Given the description of an element on the screen output the (x, y) to click on. 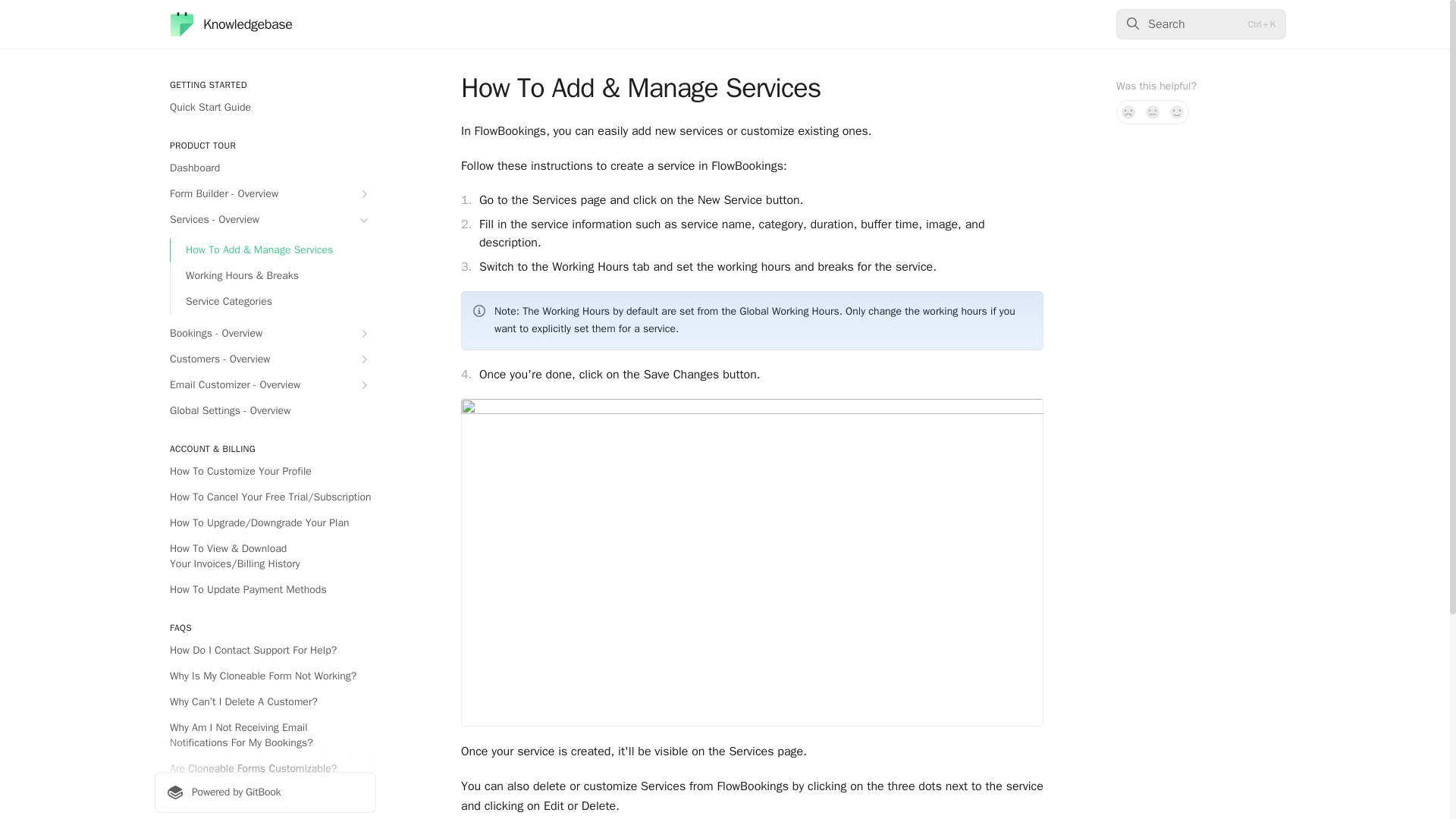
Services - Overview (264, 219)
Quick Start Guide (264, 107)
Dashboard (264, 168)
Customers - Overview (264, 359)
Bookings - Overview (264, 333)
Yes, it was! (1176, 111)
Global Settings - Overview (264, 410)
Why Is My Cloneable Form Not Working? (264, 676)
Knowledgebase (231, 24)
How To Customize Your Profile (264, 471)
